Given the description of an element on the screen output the (x, y) to click on. 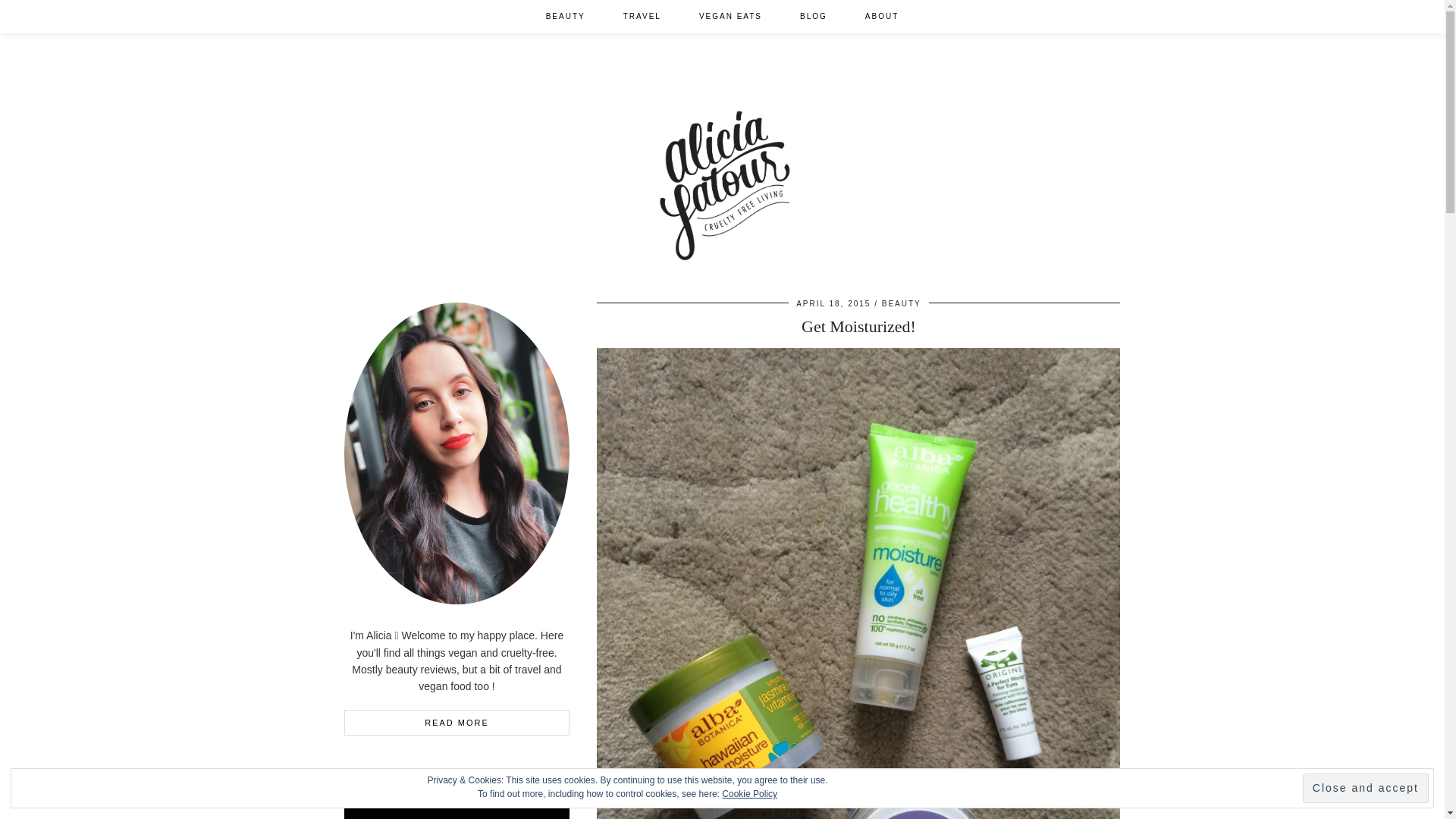
TRAVEL (641, 16)
VEGAN EATS (729, 16)
BLOG (812, 16)
Close and accept (1365, 788)
BEAUTY (901, 303)
BEAUTY (565, 16)
ABOUT (881, 16)
